Given the description of an element on the screen output the (x, y) to click on. 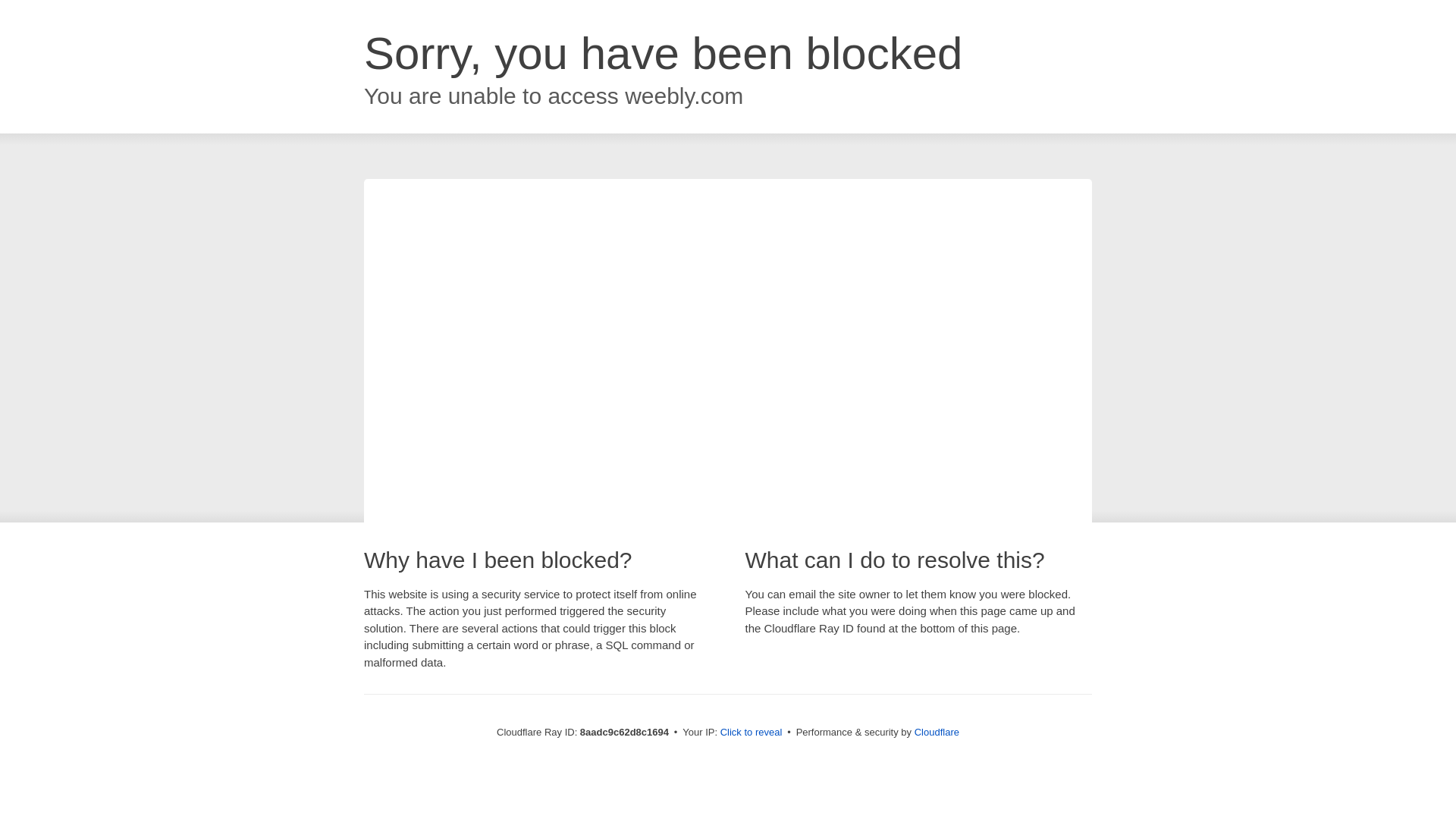
Click to reveal (751, 732)
Cloudflare (936, 731)
